Given the description of an element on the screen output the (x, y) to click on. 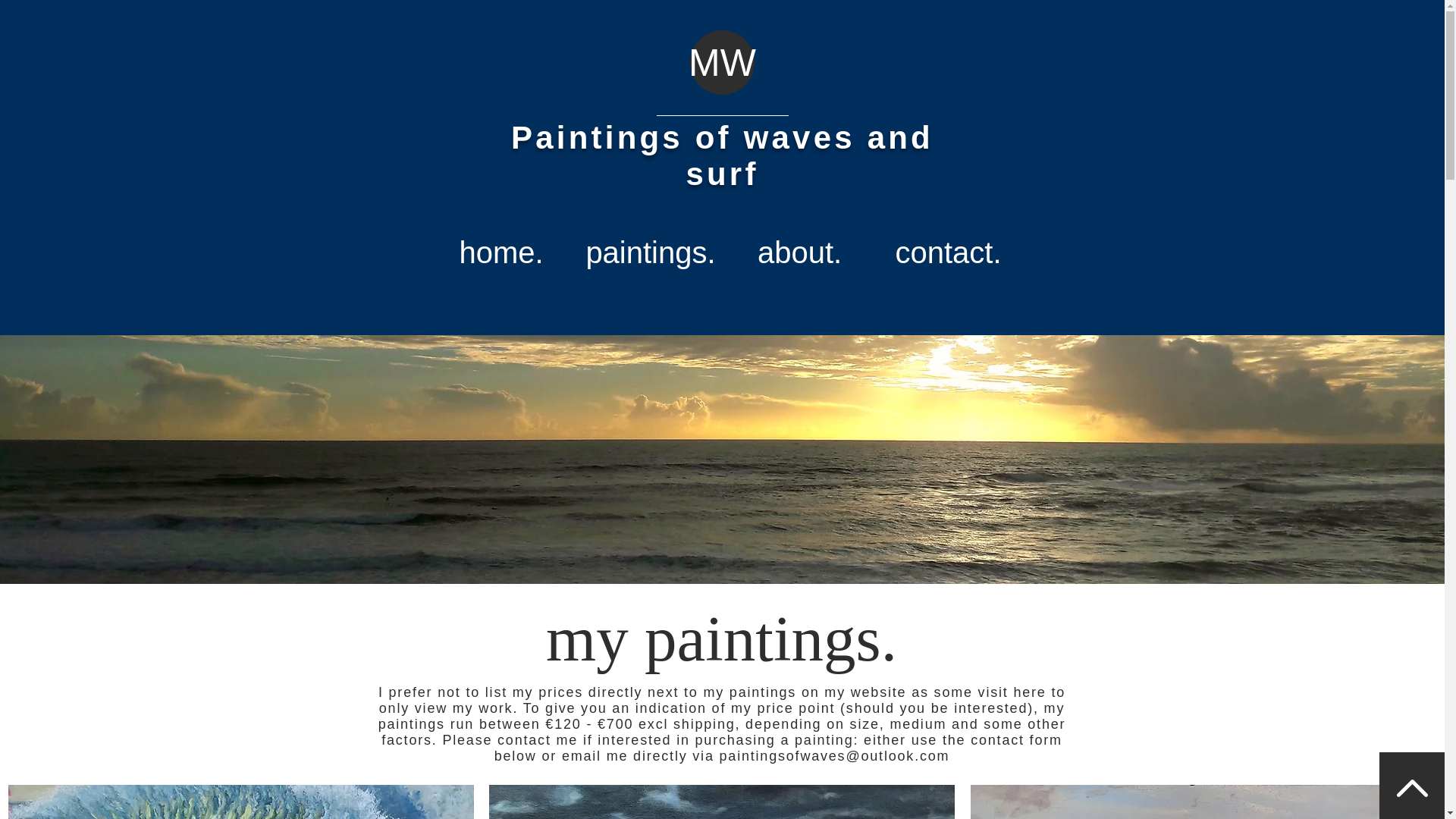
MW (721, 62)
about. (799, 252)
home. (500, 252)
contact. (947, 252)
paintings. (650, 252)
